Given the description of an element on the screen output the (x, y) to click on. 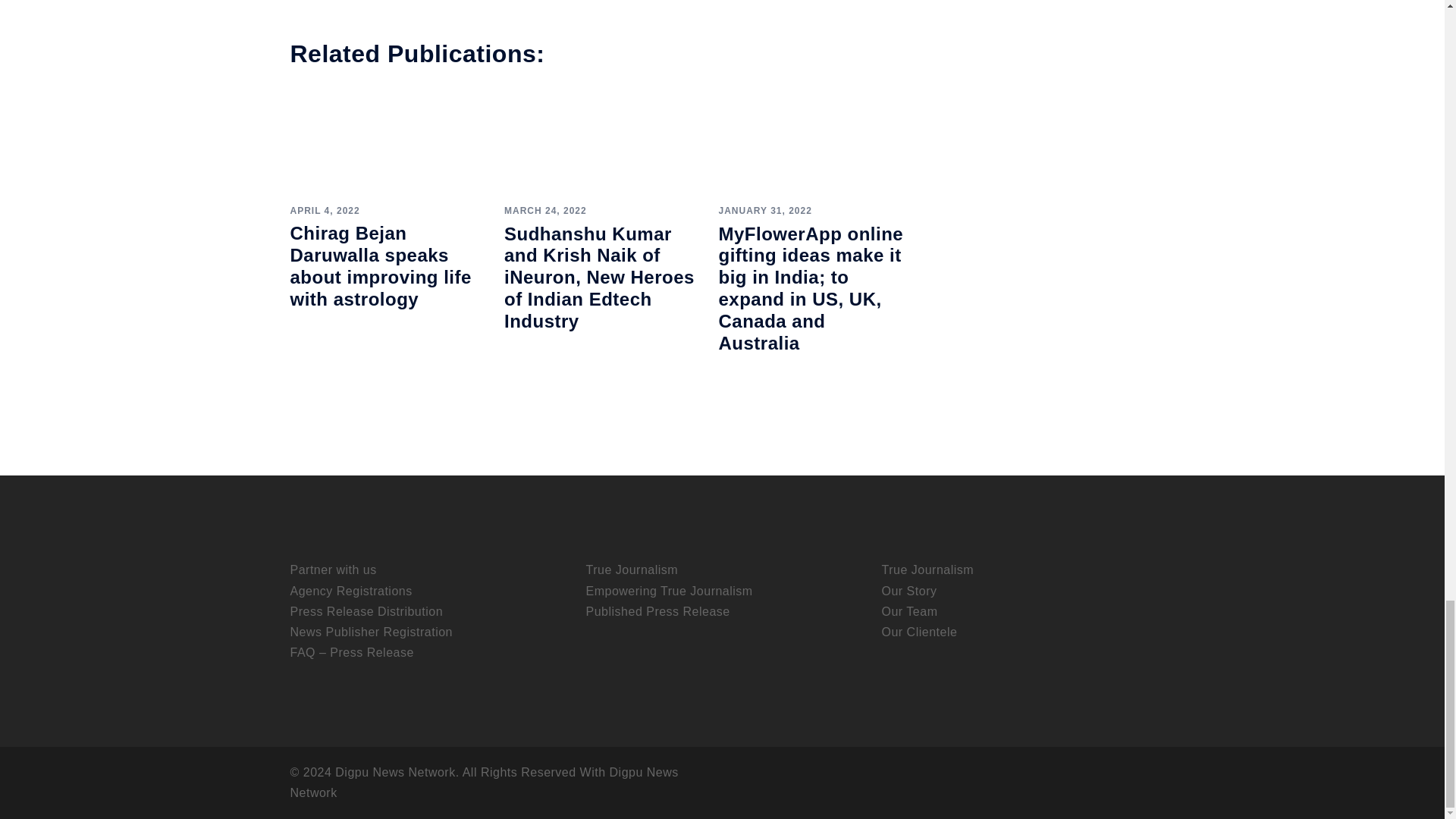
APRIL 4, 2022 (324, 210)
